Given the description of an element on the screen output the (x, y) to click on. 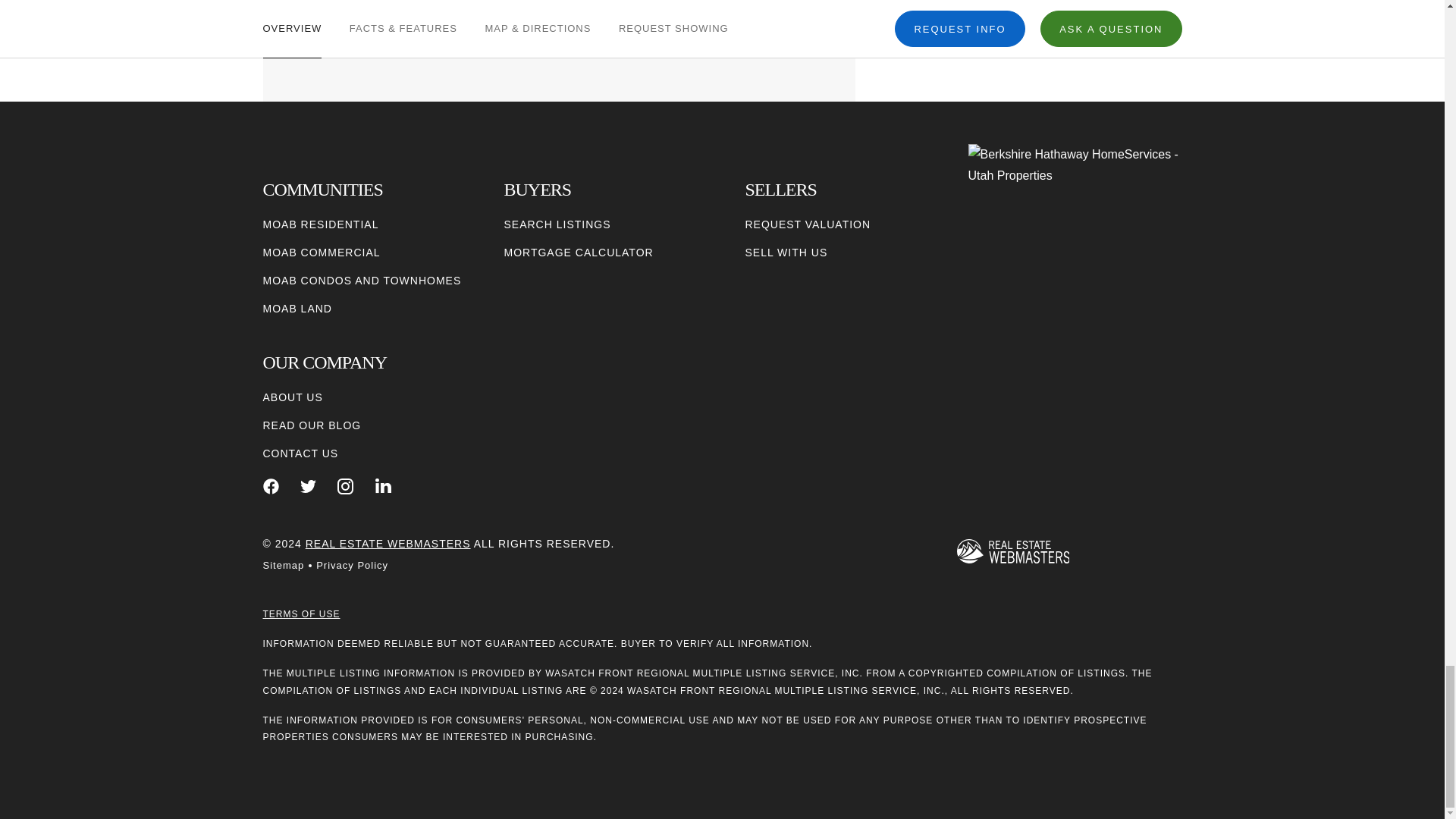
FACEBOOK (270, 486)
LINKEDIN (383, 486)
TWITTER (307, 486)
